Given the description of an element on the screen output the (x, y) to click on. 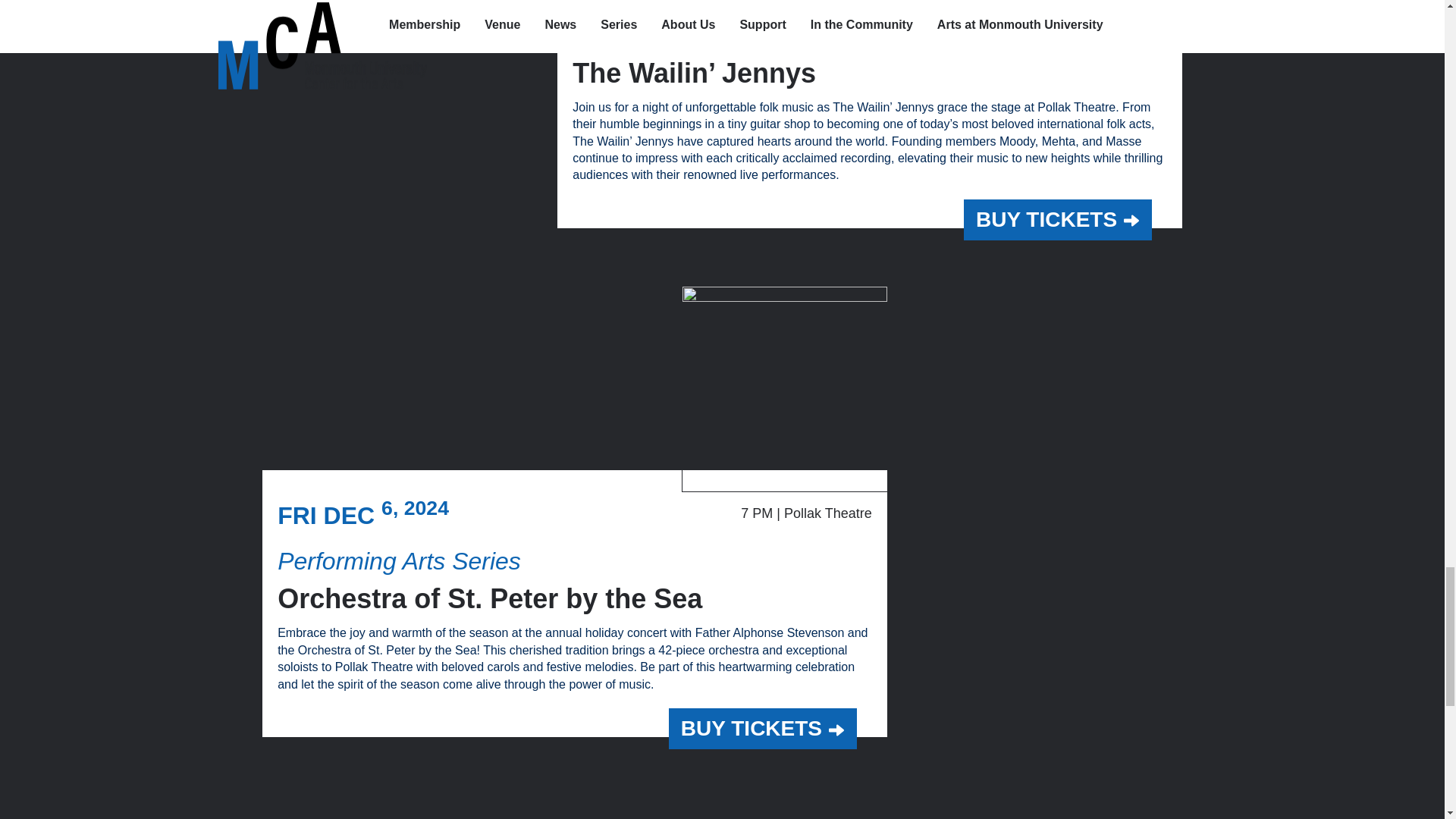
Orchestra of St. Peter by the Sea (489, 598)
BUY TICKETS (1057, 219)
